Given the description of an element on the screen output the (x, y) to click on. 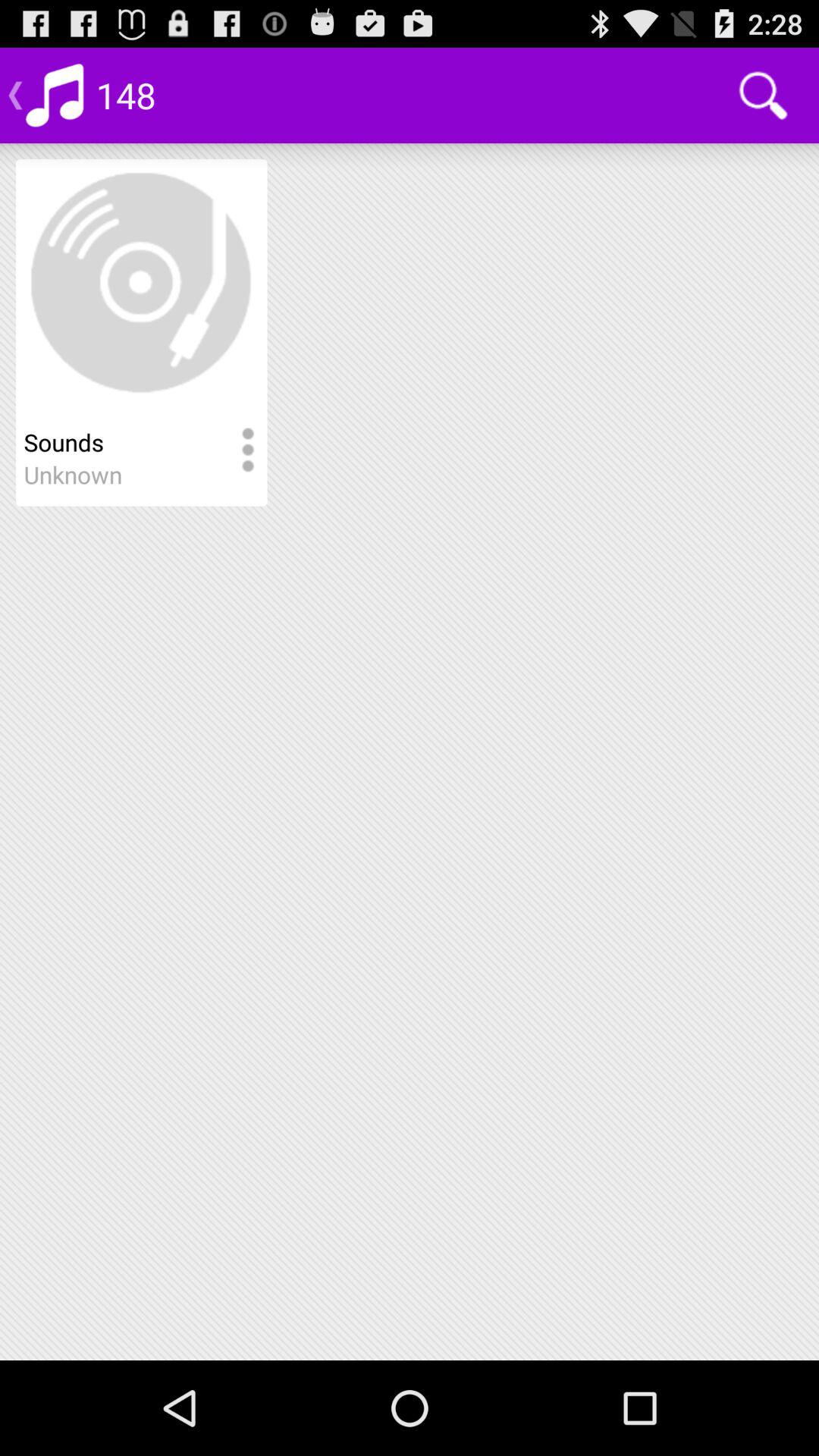
choose the item next to 148 app (763, 95)
